Given the description of an element on the screen output the (x, y) to click on. 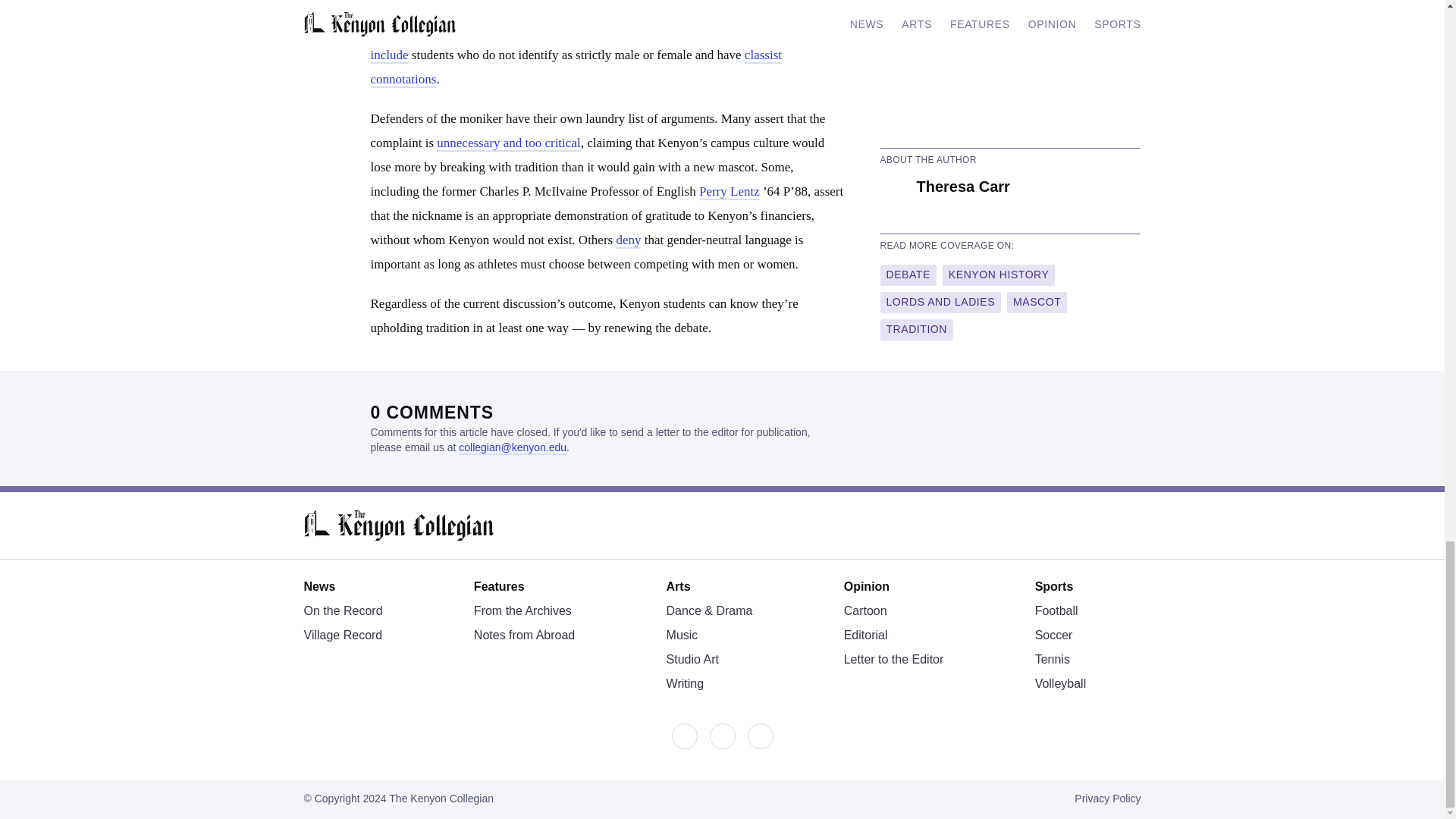
character (462, 7)
is Anglocentric (592, 19)
evoke success (670, 7)
do not adequately include (586, 43)
